Given the description of an element on the screen output the (x, y) to click on. 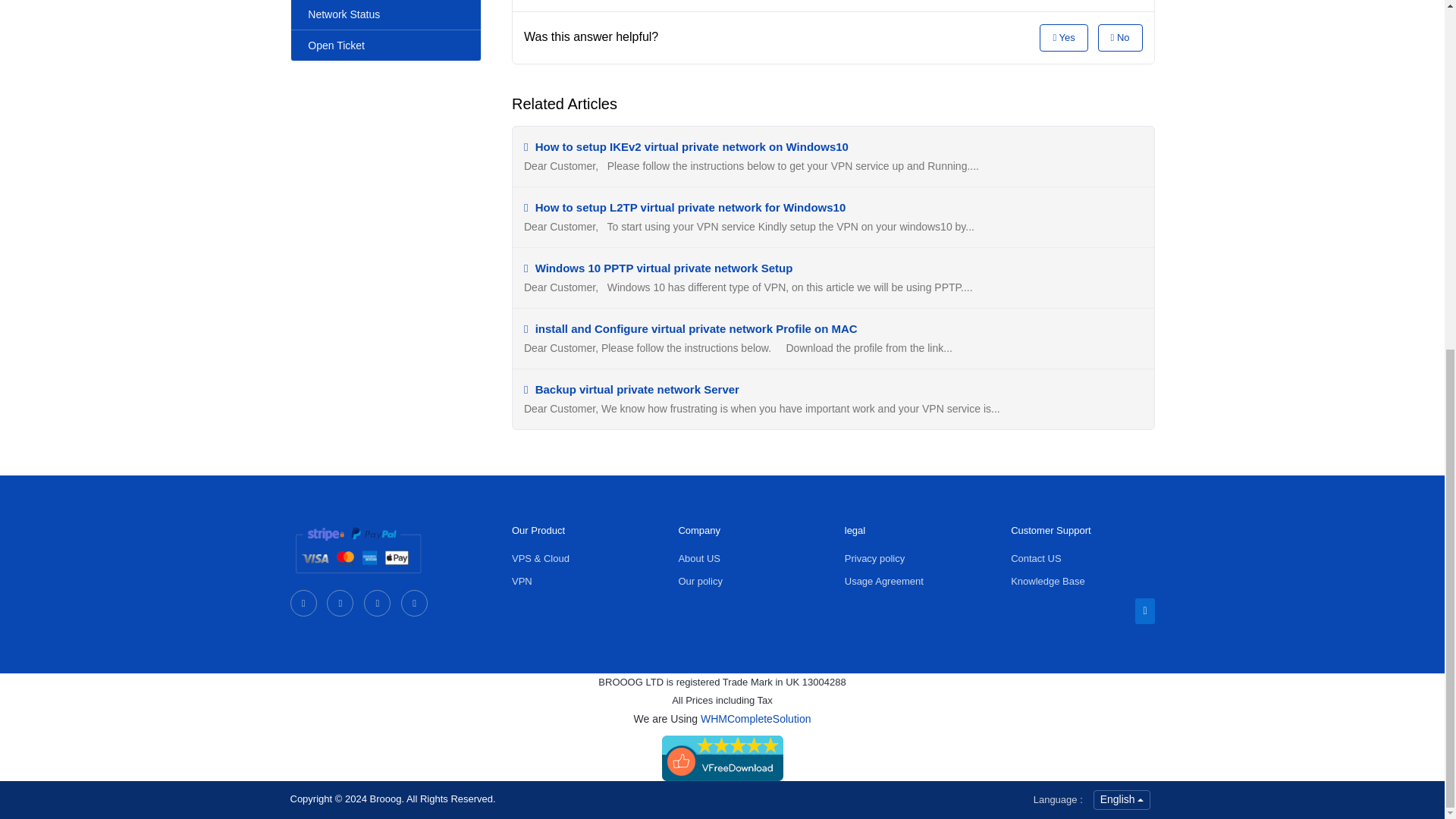
How to setup L2TP virtual private network for Windows10 (684, 206)
How to setup IKEv2 virtual private network on Windows10 (686, 146)
Windows 10 PPTP virtual private network Setup (658, 267)
download (722, 757)
install and Configure virtual private network Profile on MAC (690, 328)
Backup virtual private network Server (631, 389)
No (1119, 38)
Yes (1063, 38)
awarded 5 Stars at Taimienphi (722, 758)
